Given the description of an element on the screen output the (x, y) to click on. 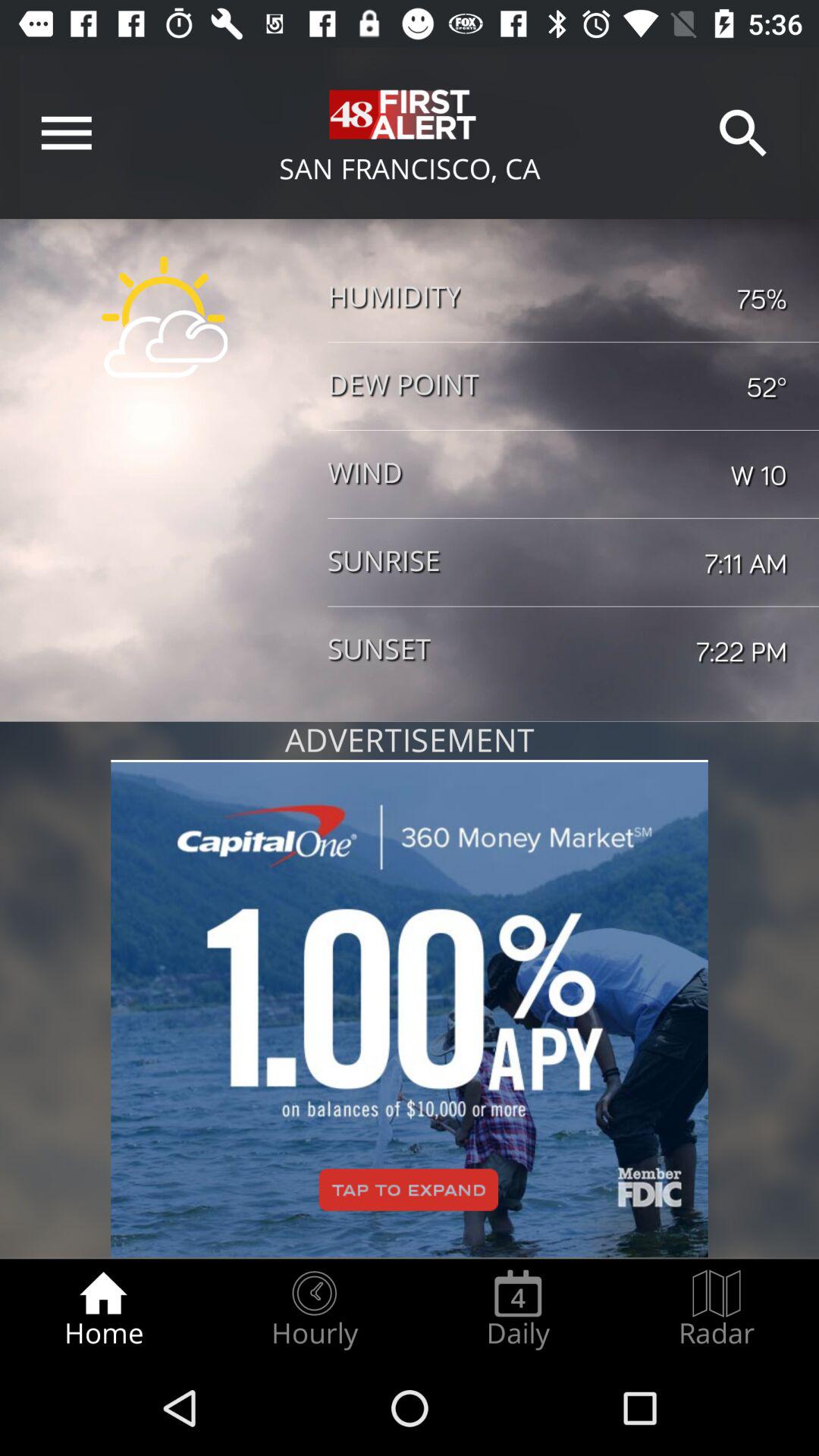
tap radio button at the bottom right corner (716, 1309)
